Given the description of an element on the screen output the (x, y) to click on. 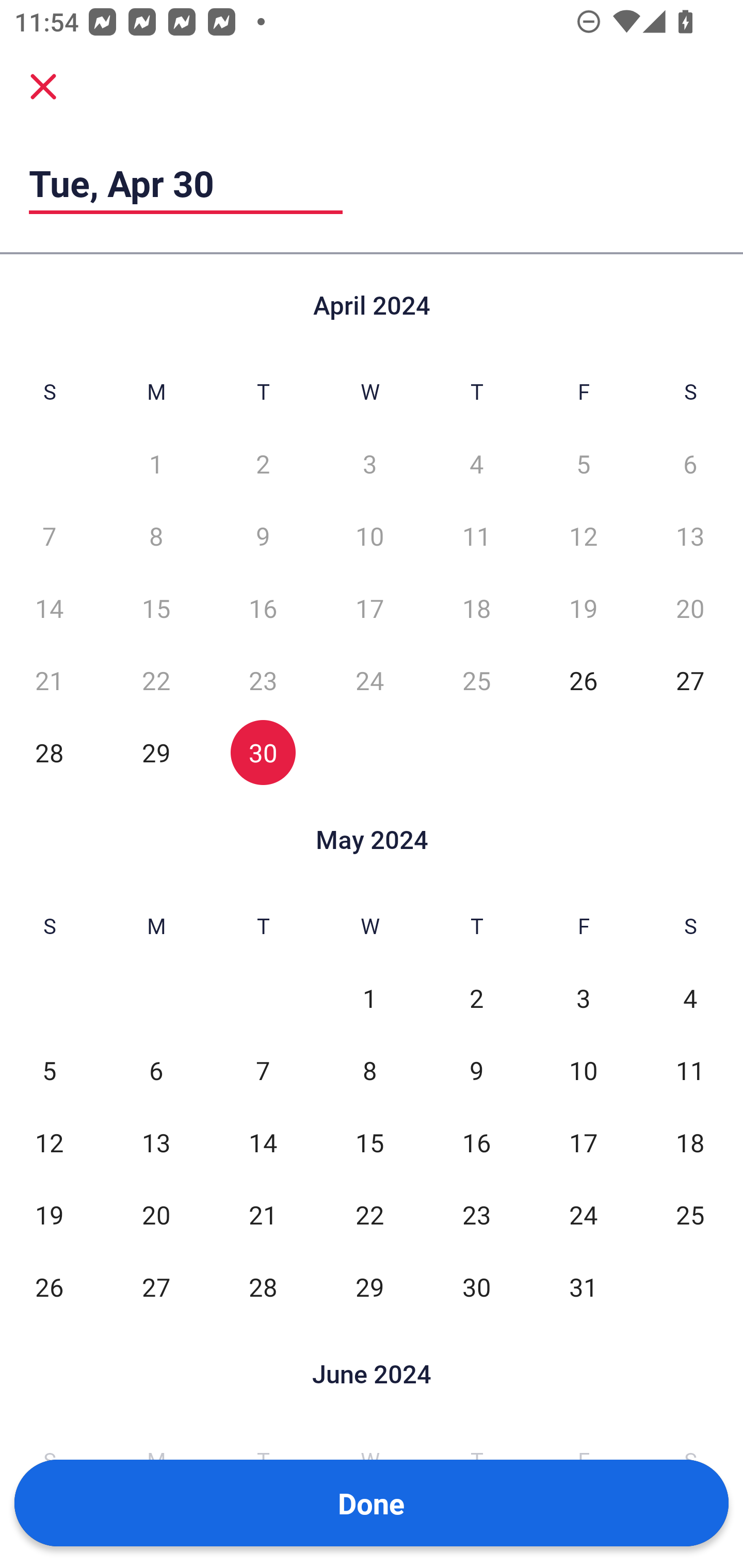
Cancel (43, 86)
Tue, Apr 30 (185, 182)
1 Mon, Apr 1, Not Selected (156, 464)
2 Tue, Apr 2, Not Selected (263, 464)
3 Wed, Apr 3, Not Selected (369, 464)
4 Thu, Apr 4, Not Selected (476, 464)
5 Fri, Apr 5, Not Selected (583, 464)
6 Sat, Apr 6, Not Selected (690, 464)
7 Sun, Apr 7, Not Selected (49, 536)
8 Mon, Apr 8, Not Selected (156, 536)
9 Tue, Apr 9, Not Selected (263, 536)
10 Wed, Apr 10, Not Selected (369, 536)
11 Thu, Apr 11, Not Selected (476, 536)
12 Fri, Apr 12, Not Selected (583, 536)
13 Sat, Apr 13, Not Selected (690, 536)
14 Sun, Apr 14, Not Selected (49, 608)
15 Mon, Apr 15, Not Selected (156, 608)
16 Tue, Apr 16, Not Selected (263, 608)
17 Wed, Apr 17, Not Selected (369, 608)
18 Thu, Apr 18, Not Selected (476, 608)
19 Fri, Apr 19, Not Selected (583, 608)
20 Sat, Apr 20, Not Selected (690, 608)
21 Sun, Apr 21, Not Selected (49, 680)
22 Mon, Apr 22, Not Selected (156, 680)
23 Tue, Apr 23, Not Selected (263, 680)
24 Wed, Apr 24, Not Selected (369, 680)
25 Thu, Apr 25, Not Selected (476, 680)
26 Fri, Apr 26, Not Selected (583, 680)
27 Sat, Apr 27, Not Selected (690, 680)
28 Sun, Apr 28, Not Selected (49, 752)
29 Mon, Apr 29, Not Selected (156, 752)
30 Tue, Apr 30, Selected (263, 752)
1 Wed, May 1, Not Selected (369, 997)
2 Thu, May 2, Not Selected (476, 997)
3 Fri, May 3, Not Selected (583, 997)
4 Sat, May 4, Not Selected (690, 997)
5 Sun, May 5, Not Selected (49, 1070)
6 Mon, May 6, Not Selected (156, 1070)
7 Tue, May 7, Not Selected (263, 1070)
8 Wed, May 8, Not Selected (369, 1070)
9 Thu, May 9, Not Selected (476, 1070)
10 Fri, May 10, Not Selected (583, 1070)
11 Sat, May 11, Not Selected (690, 1070)
12 Sun, May 12, Not Selected (49, 1143)
13 Mon, May 13, Not Selected (156, 1143)
14 Tue, May 14, Not Selected (263, 1143)
15 Wed, May 15, Not Selected (369, 1143)
16 Thu, May 16, Not Selected (476, 1143)
17 Fri, May 17, Not Selected (583, 1143)
18 Sat, May 18, Not Selected (690, 1143)
